Given the description of an element on the screen output the (x, y) to click on. 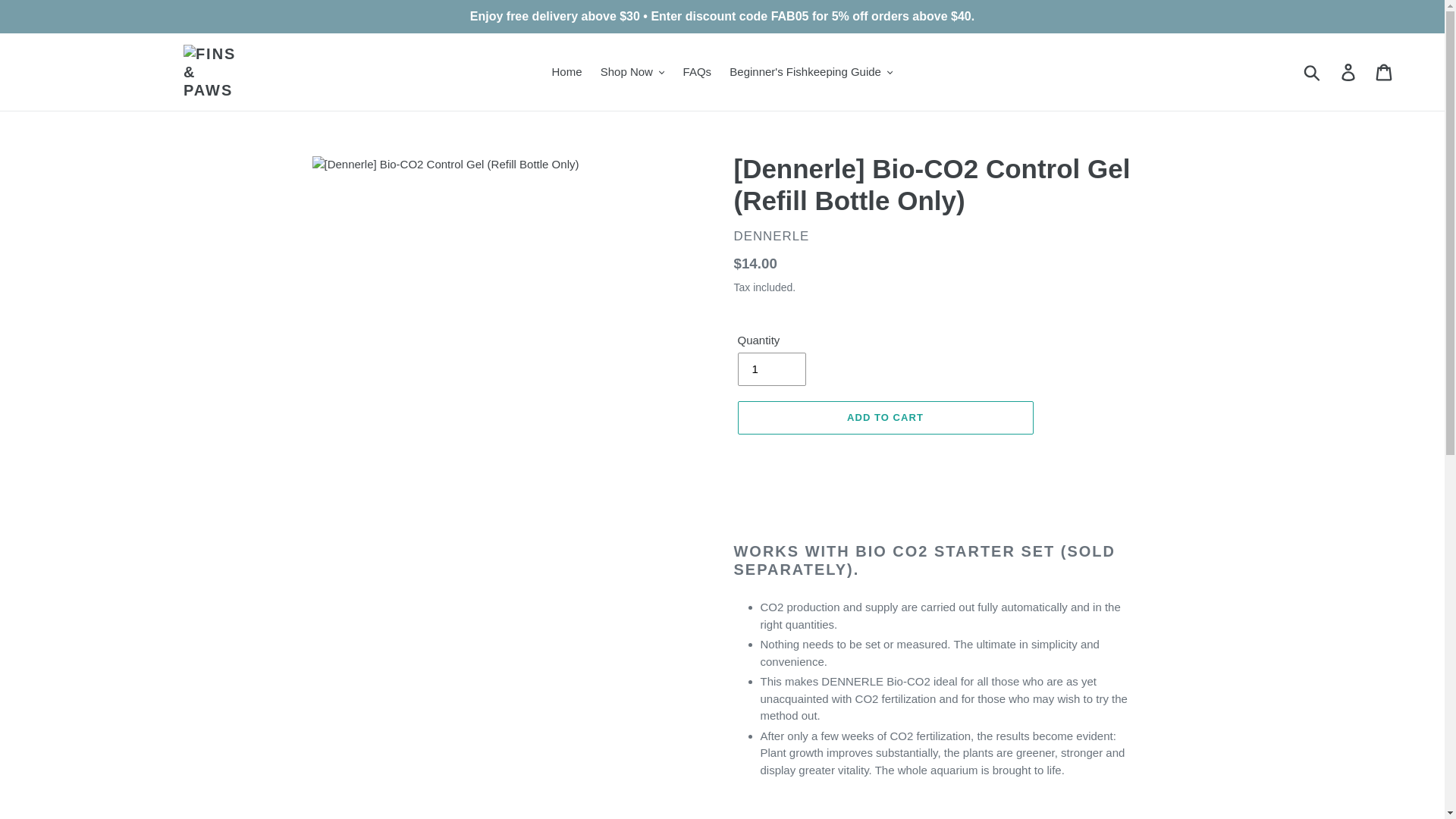
Home (566, 72)
FAQs (697, 72)
1 (770, 368)
Submit (1313, 71)
